Given the description of an element on the screen output the (x, y) to click on. 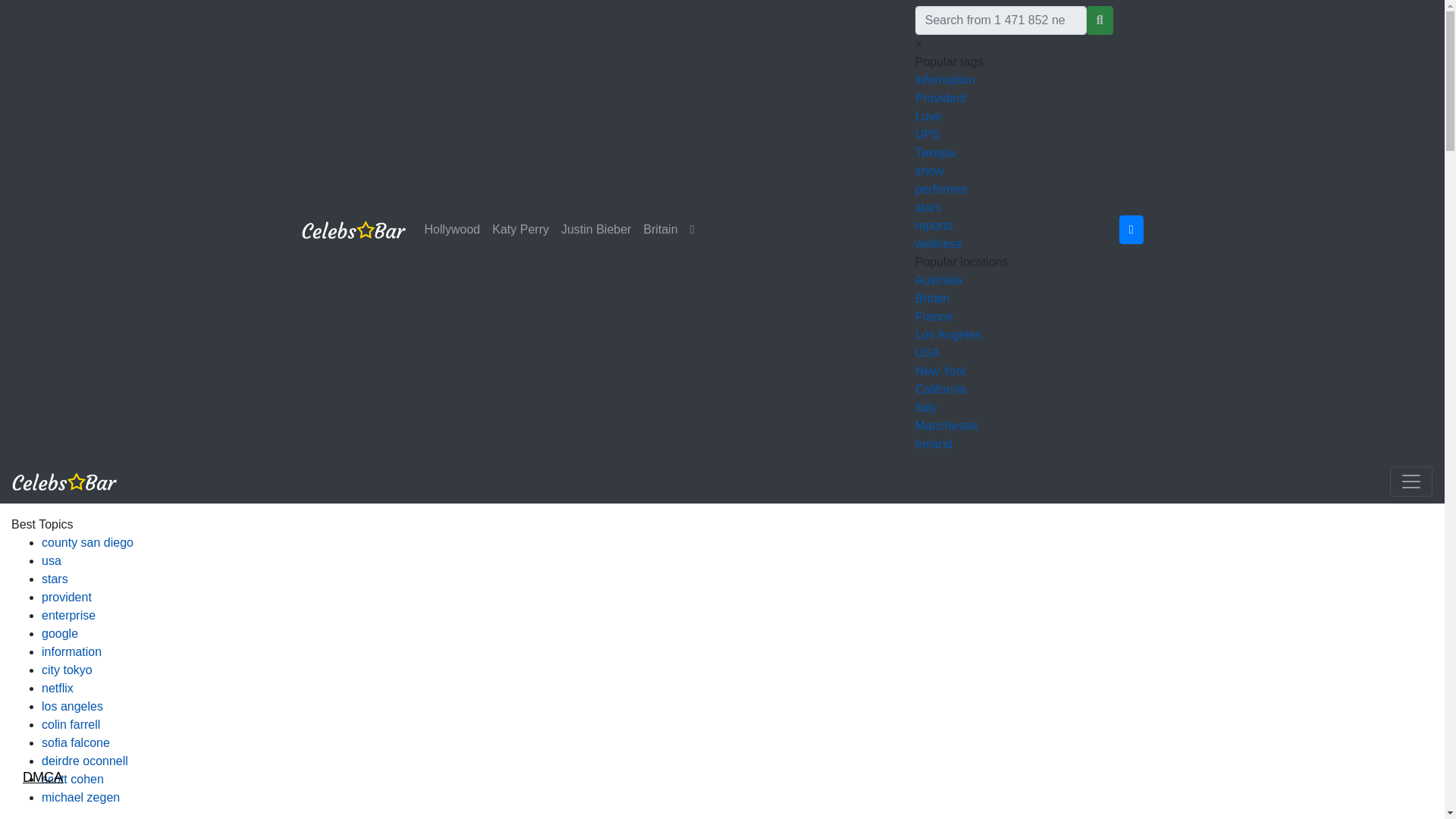
information (945, 79)
Justin Bieber (595, 229)
Love (928, 115)
UPS (927, 133)
Britain (659, 229)
Katy Perry (520, 229)
Hollywood (451, 229)
Justin Bieber (595, 229)
Katy Perry (520, 229)
Britain (659, 229)
Provident (940, 97)
Hollywood (451, 229)
